Given the description of an element on the screen output the (x, y) to click on. 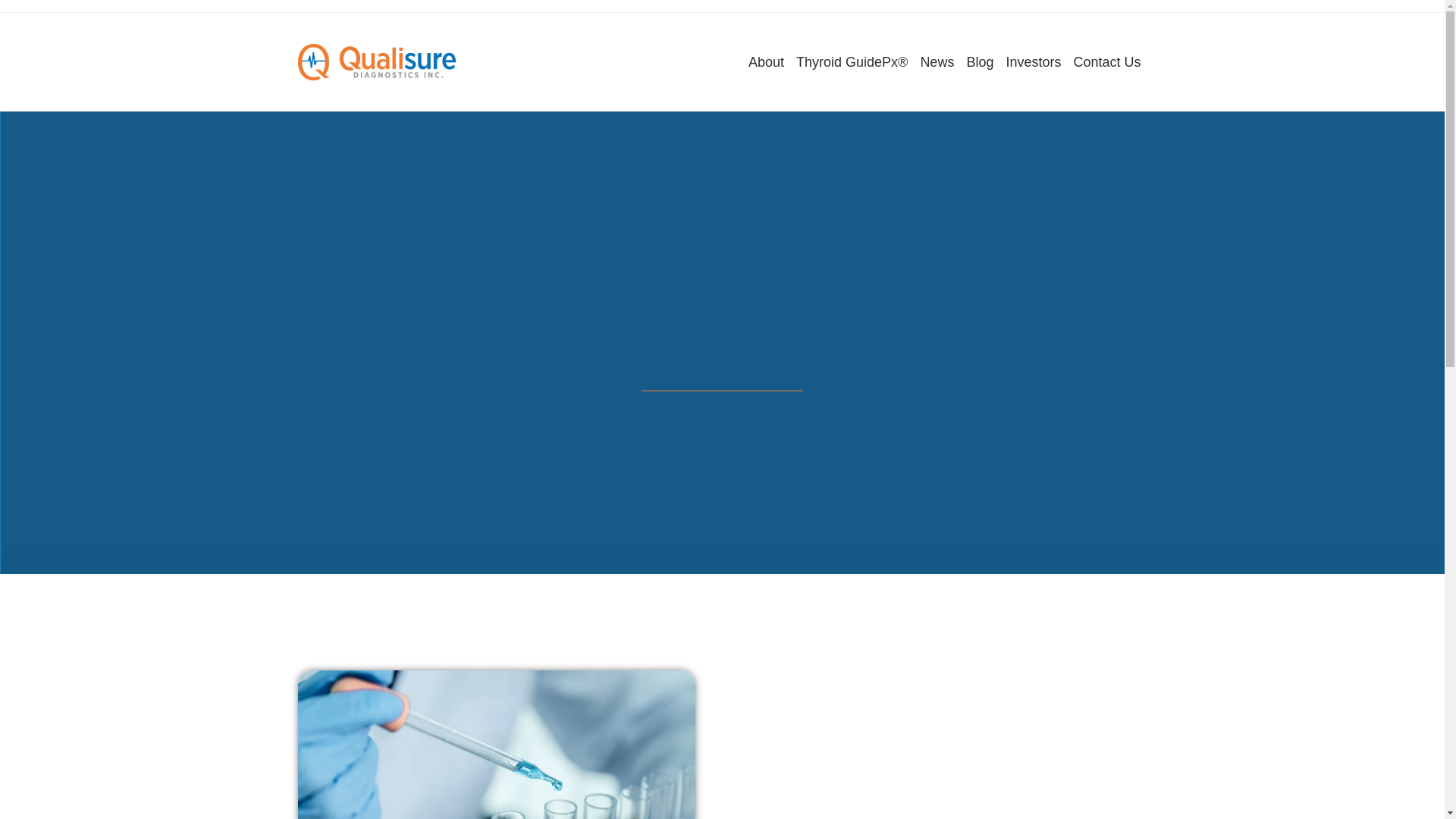
Blog (978, 62)
About (766, 62)
Contact Us (1107, 62)
Investors (1032, 62)
News (936, 62)
